Given the description of an element on the screen output the (x, y) to click on. 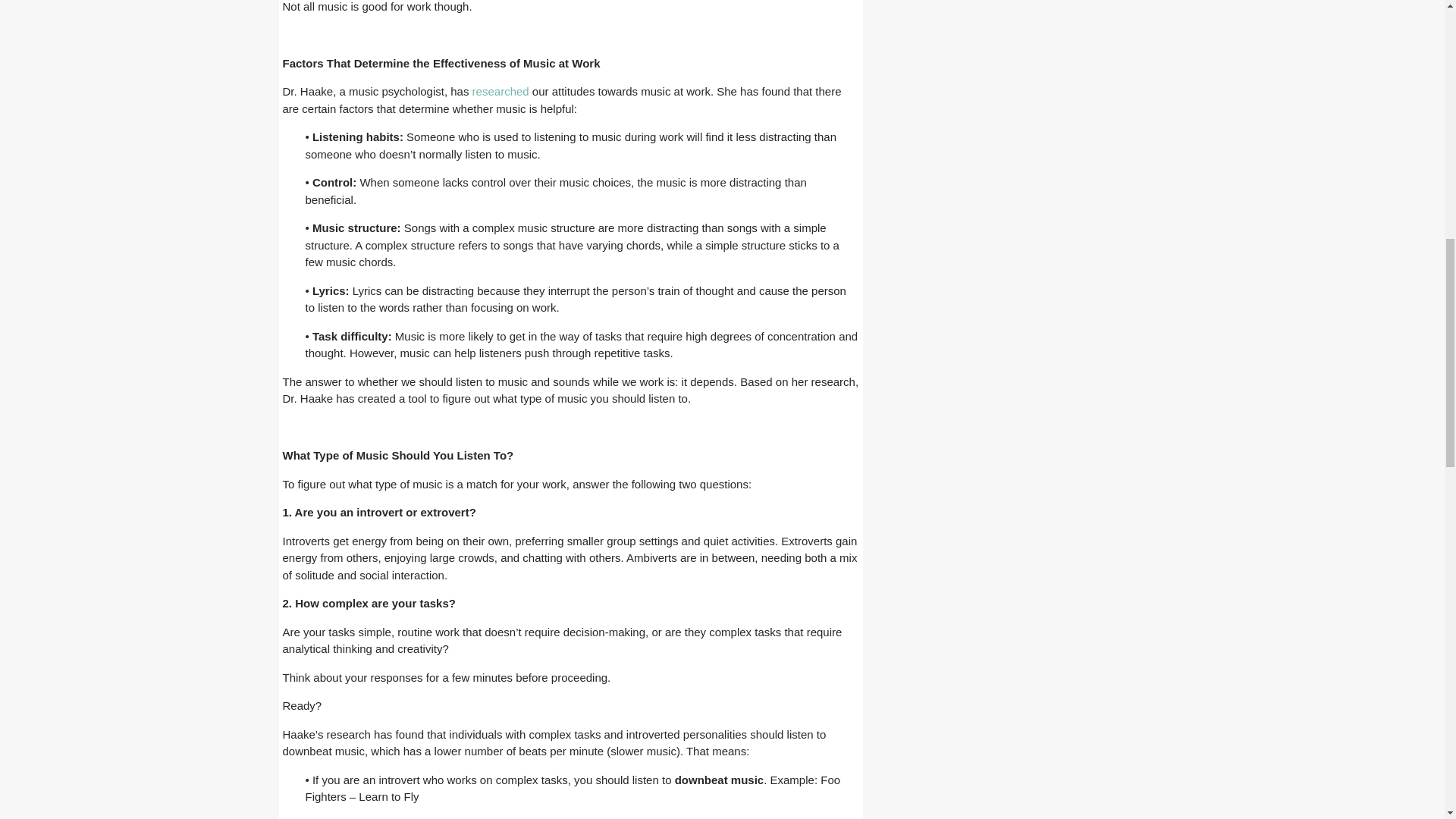
researched (500, 91)
